Given the description of an element on the screen output the (x, y) to click on. 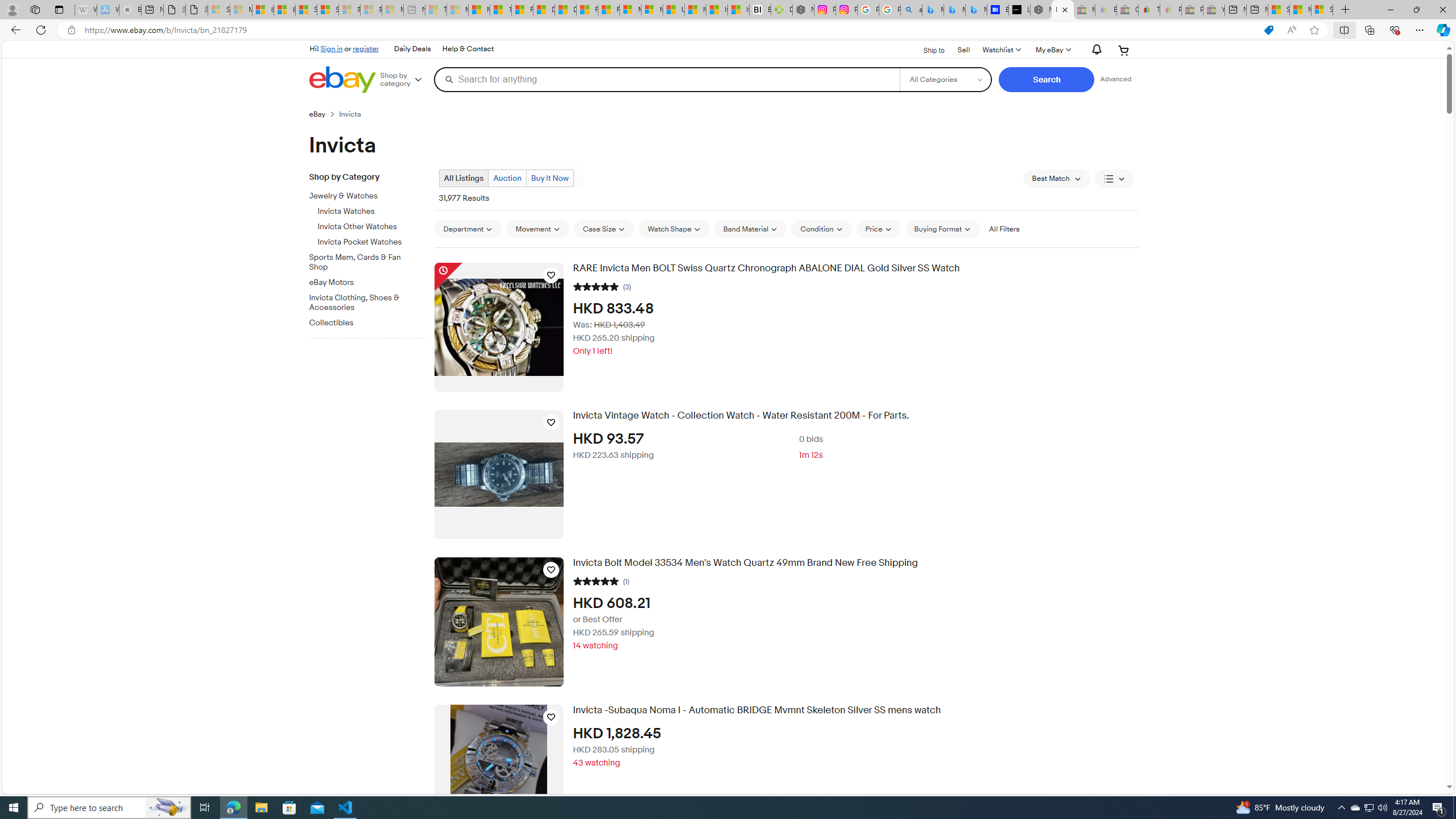
Ship to (926, 49)
Sports Mem, Cards & Fan Shop (362, 262)
Help & Contact (467, 49)
My eBay (1052, 49)
Price (878, 229)
eBay (323, 113)
Invicta products for sale | eBay (1062, 9)
Collectibles (371, 320)
Band Material (750, 229)
Drinking tea every day is proven to delay biological aging (565, 9)
